Given the description of an element on the screen output the (x, y) to click on. 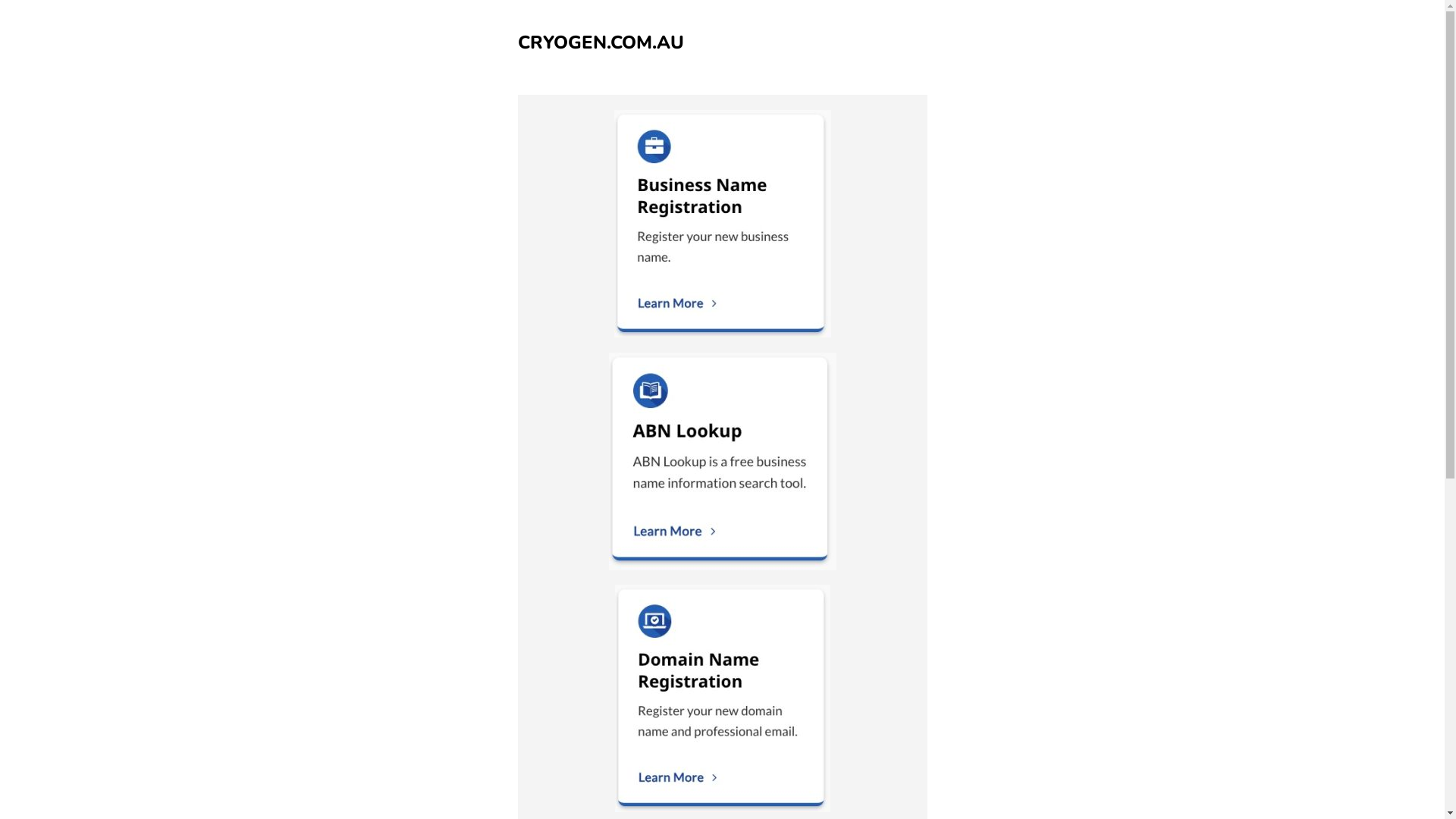
CRYOGEN.COM.AU Element type: text (600, 42)
